Given the description of an element on the screen output the (x, y) to click on. 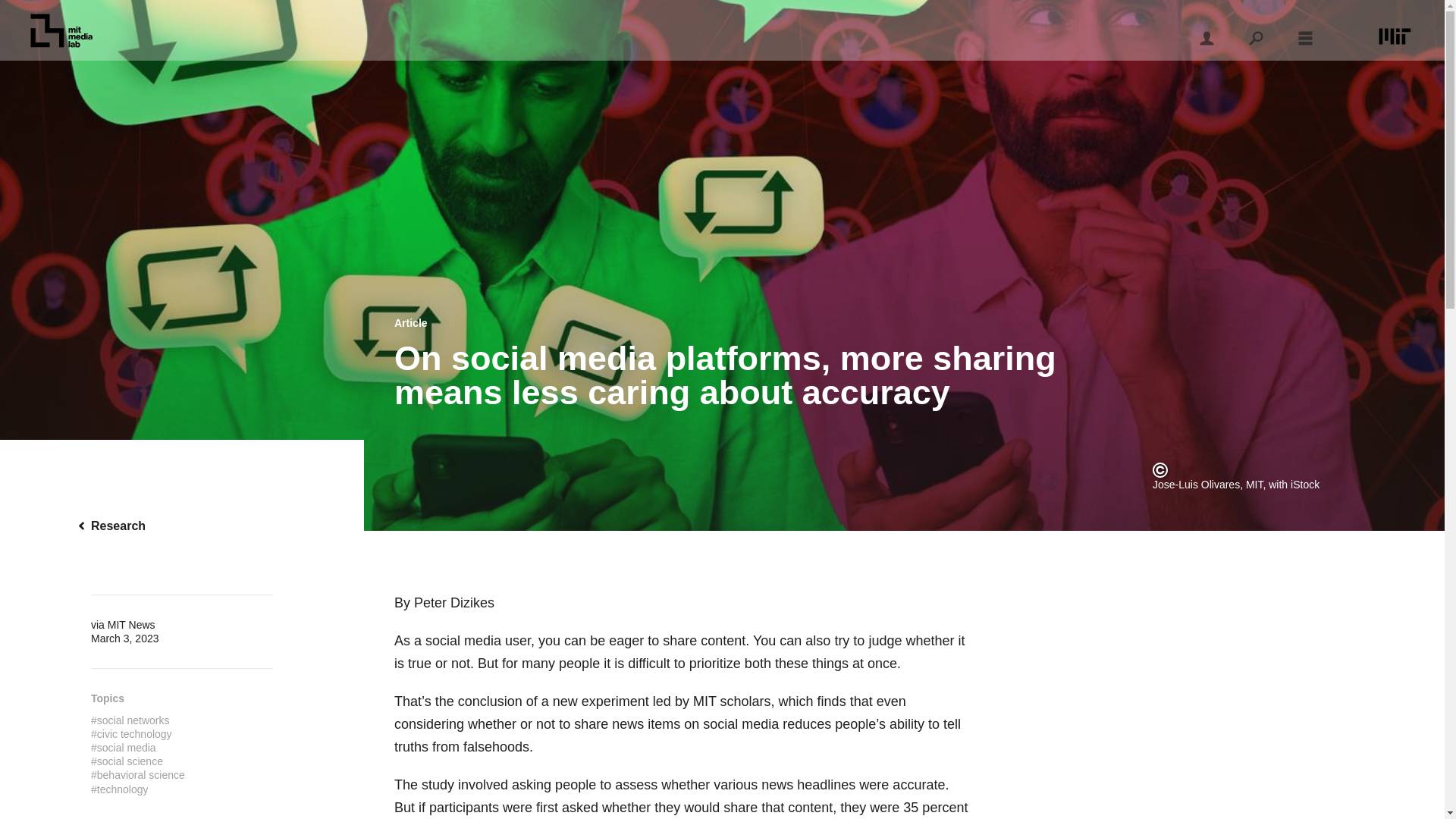
Research (181, 525)
MIT News (131, 624)
